Given the description of an element on the screen output the (x, y) to click on. 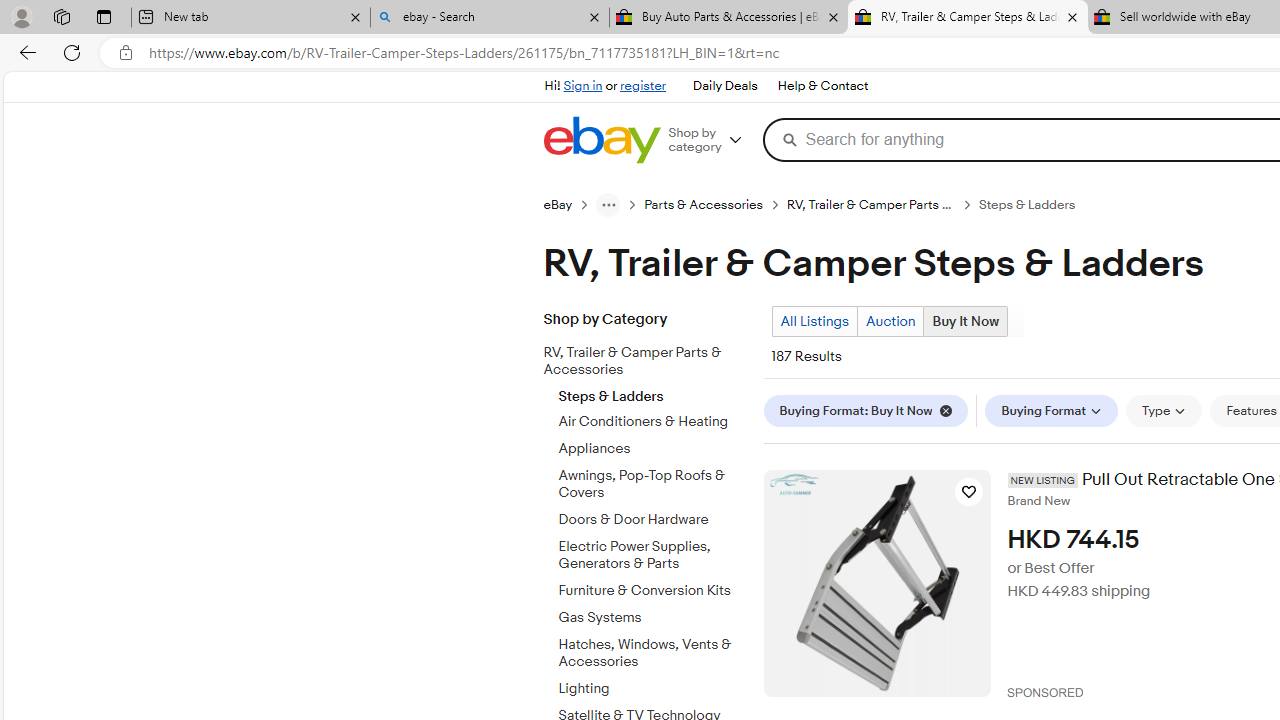
ebay - Search (490, 17)
